Given the description of an element on the screen output the (x, y) to click on. 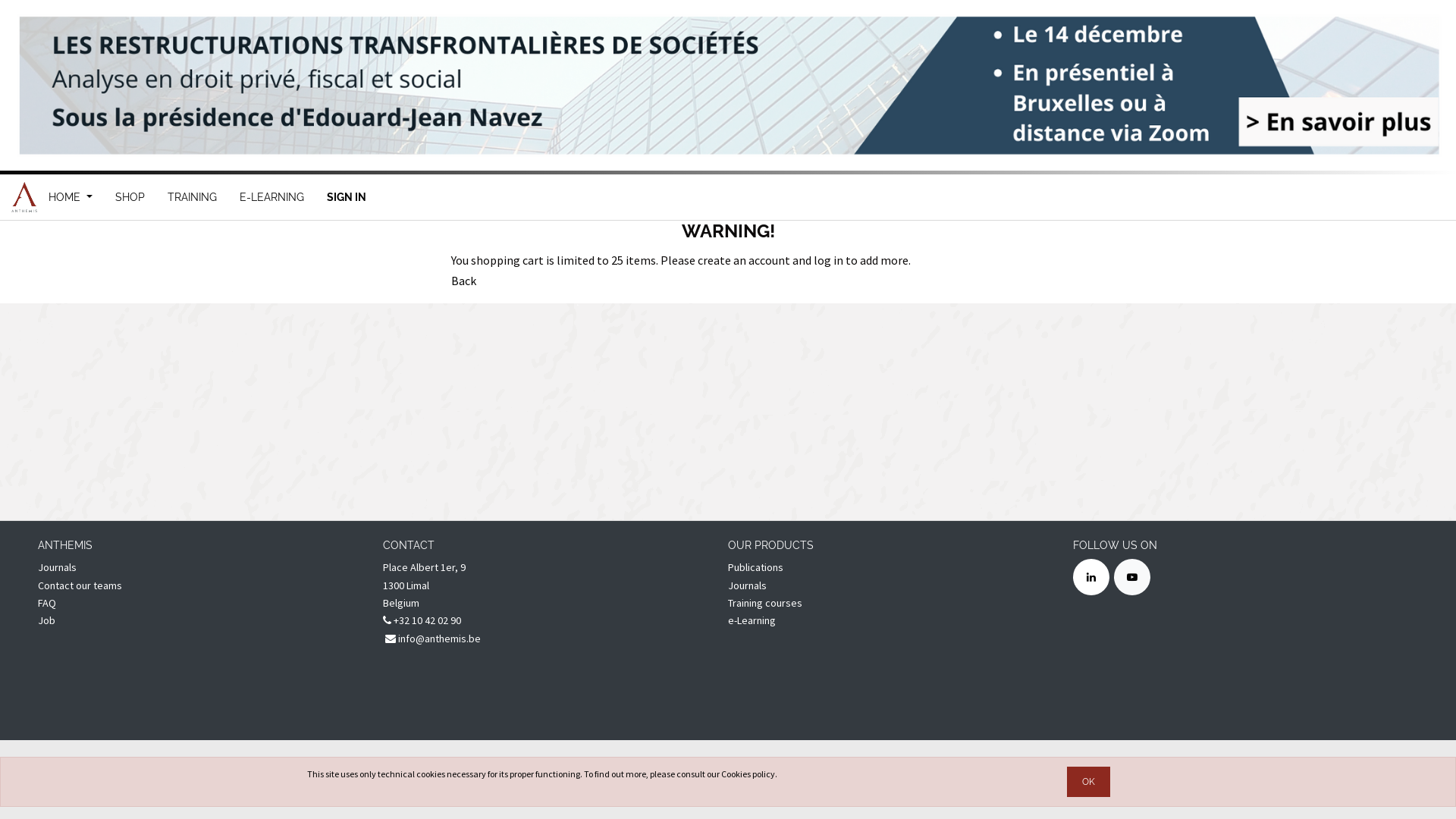
OK Element type: text (1087, 781)
SIGN IN Element type: text (346, 197)
Legal information Element type: text (218, 778)
Privacy Policy Element type: text (285, 778)
HOME Element type: text (70, 26)
E-LEARNING Element type: text (271, 197)
Journals Element type: text (56, 567)
Back Element type: text (463, 280)
SHOP Element type: text (129, 197)
Job Element type: text (46, 620)
info@anthemis.be Element type: text (432, 638)
General terms and conditions Element type: text (375, 778)
e-Learning  Element type: text (753, 620)
TRAINING Element type: text (192, 197)
General terms and conditions of use Element type: text (508, 778)
Anthemis Element type: hover (24, 197)
  Element type: text (38, 691)
en Element type: text (670, 779)
Journals Element type: text (747, 585)
Training courses Element type: text (765, 602)
+32 10 42 02 90 Element type: text (421, 620)
FAQ Element type: text (46, 602)
Contact our teams Element type: text (79, 585)
  Element type: text (38, 638)
Publications Element type: text (755, 567)
Cookies Policy Element type: text (611, 778)
